Given the description of an element on the screen output the (x, y) to click on. 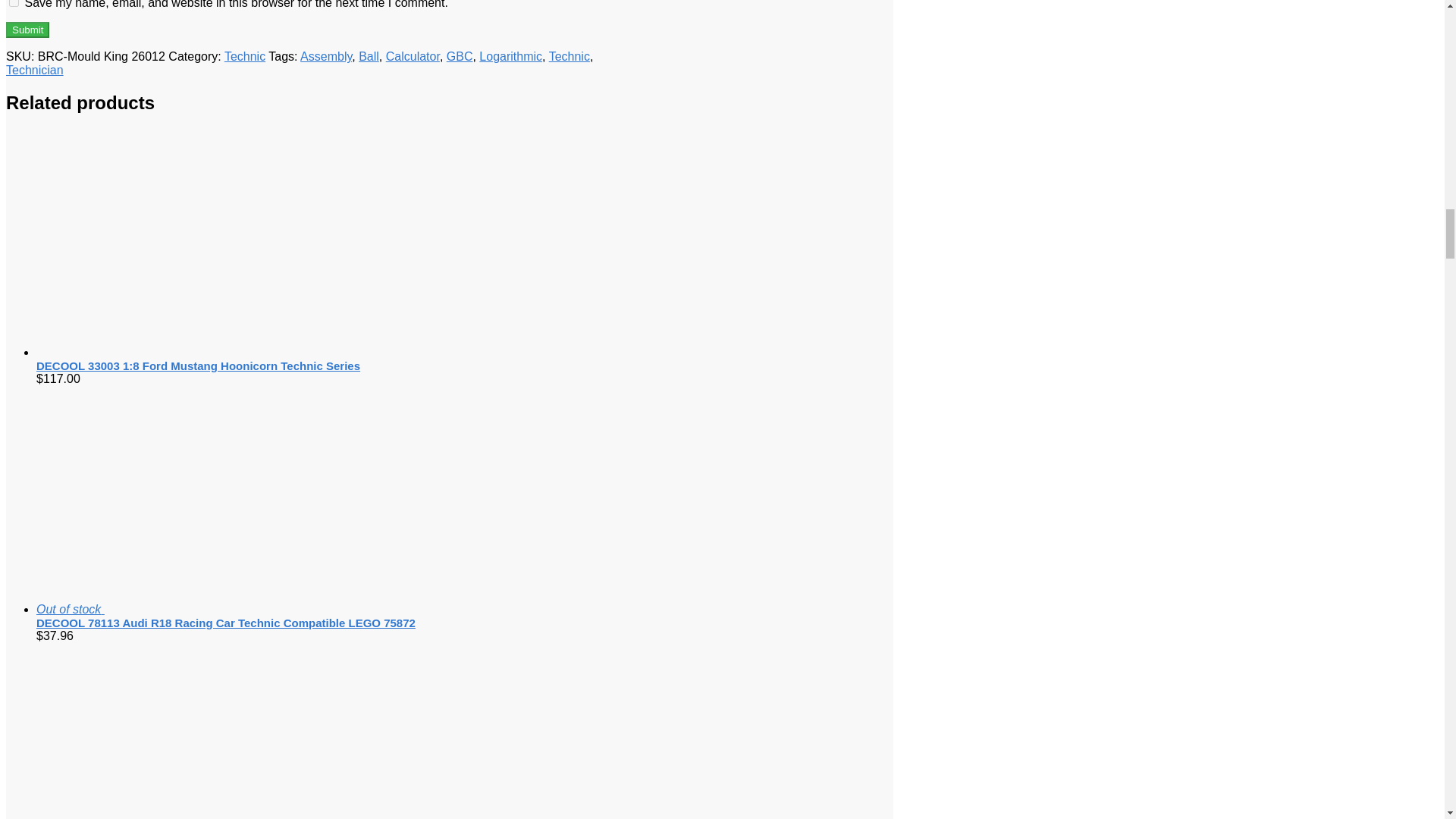
Submit (27, 29)
yes (13, 3)
